Given the description of an element on the screen output the (x, y) to click on. 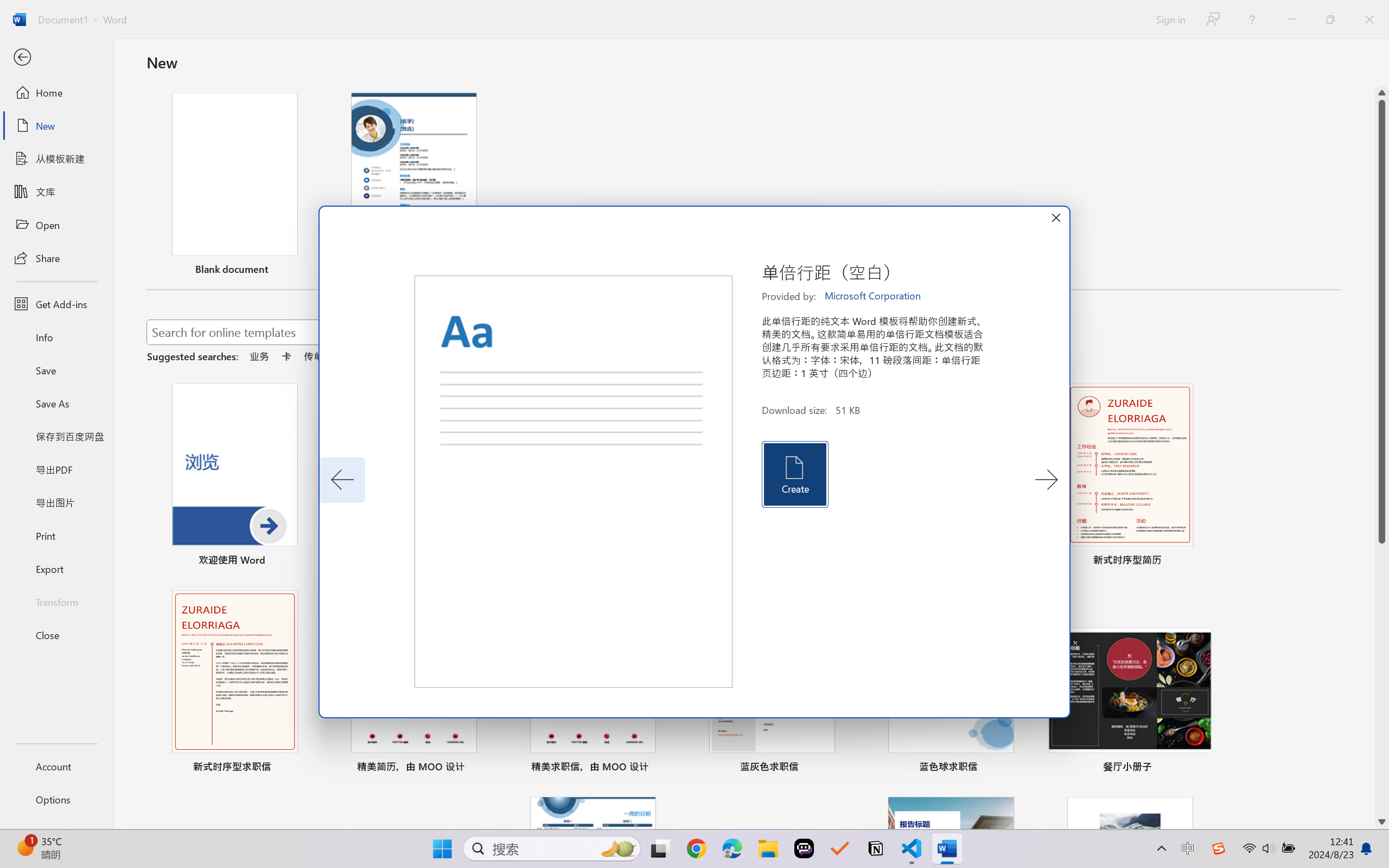
Get Add-ins (56, 303)
Line down (1382, 821)
